Given the description of an element on the screen output the (x, y) to click on. 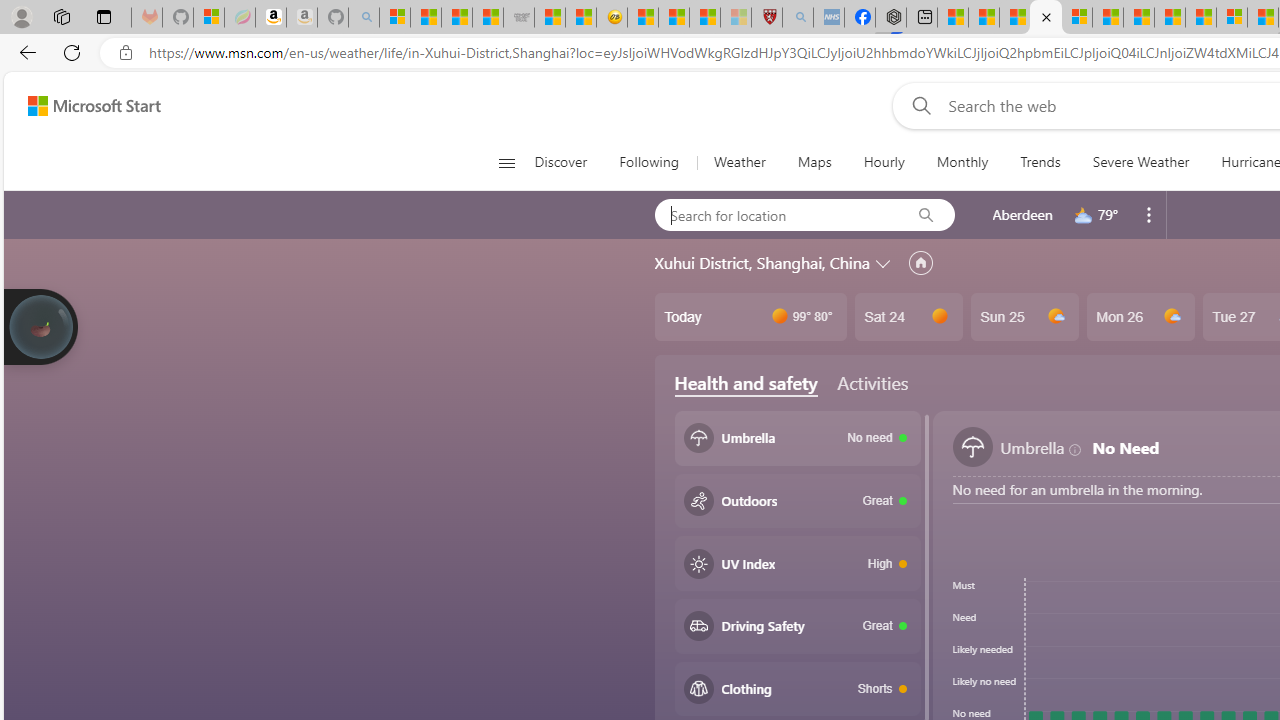
Outdoors Great (797, 501)
Sun 25 (1024, 317)
Refresh (72, 52)
Microsoft Start (94, 105)
Set as primary location (920, 263)
Personal Profile (21, 16)
Tab actions menu (104, 16)
Combat Siege (518, 17)
